Given the description of an element on the screen output the (x, y) to click on. 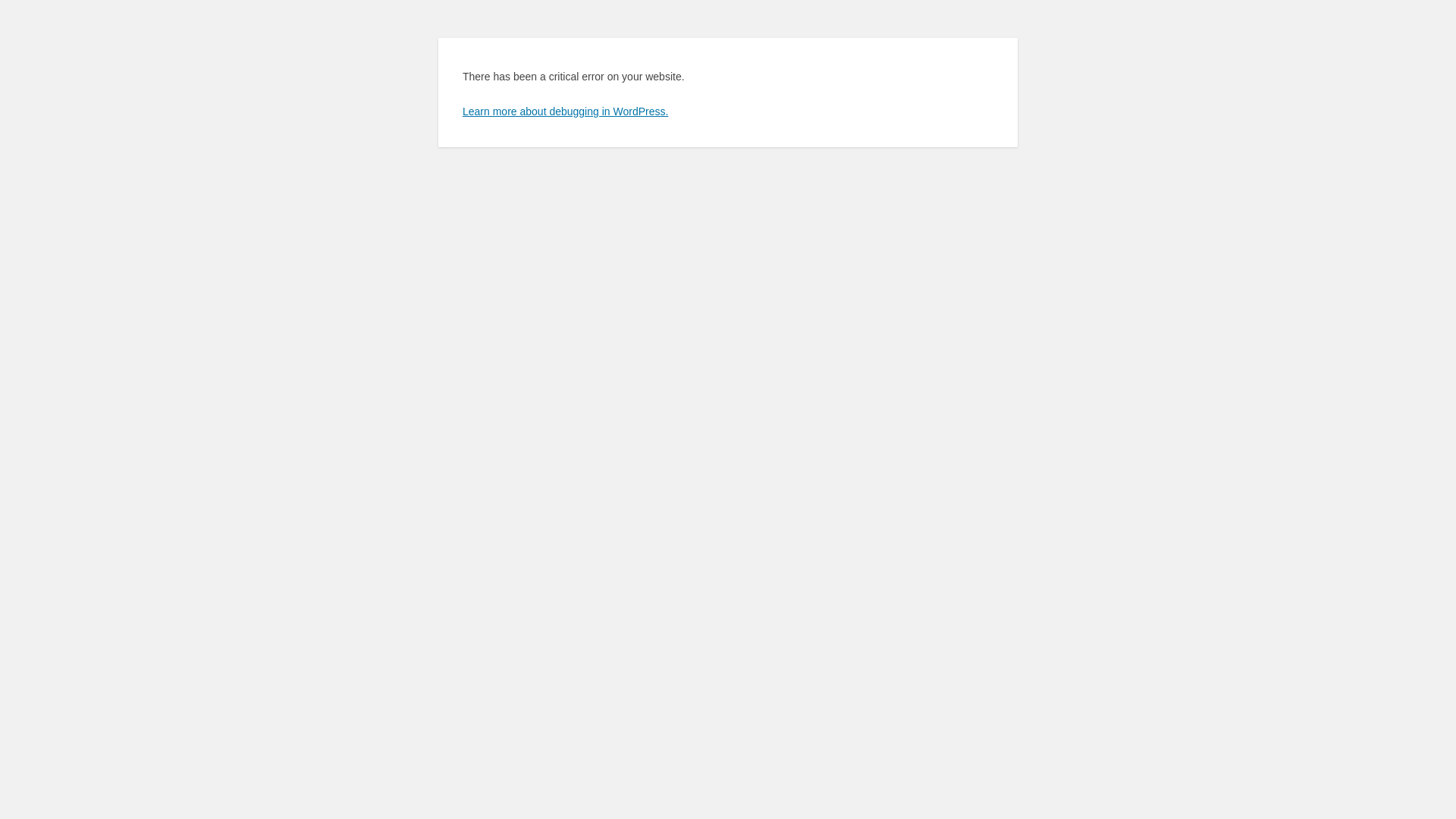
Learn more about debugging in WordPress. Element type: text (565, 111)
